Given the description of an element on the screen output the (x, y) to click on. 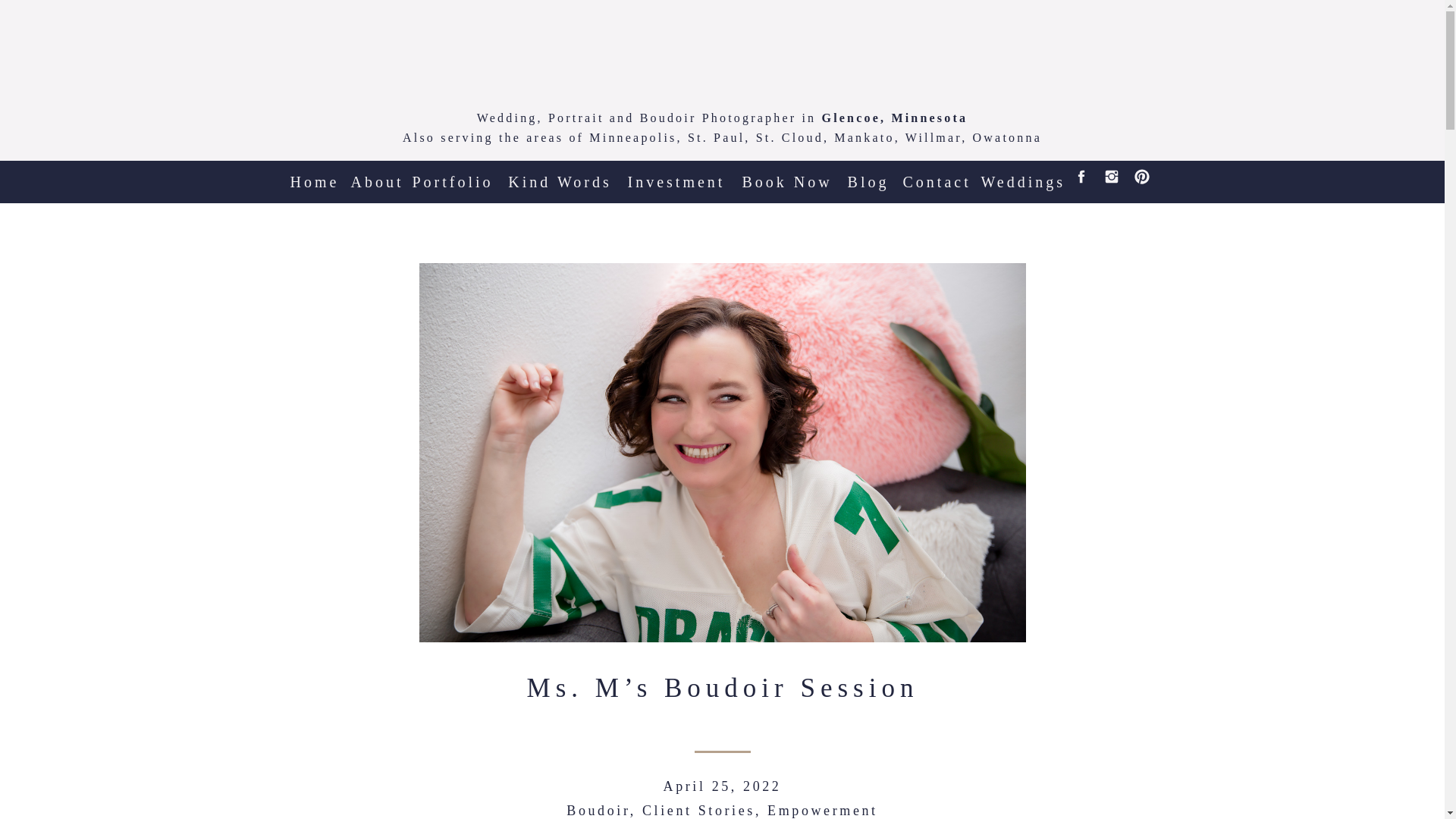
Book Now (786, 175)
Investment (673, 175)
Home (314, 175)
Portfolio (452, 175)
Blog (867, 175)
Weddings (1019, 175)
Contact (935, 175)
About (375, 175)
Empowerment (822, 810)
Kind Words (559, 175)
